Given the description of an element on the screen output the (x, y) to click on. 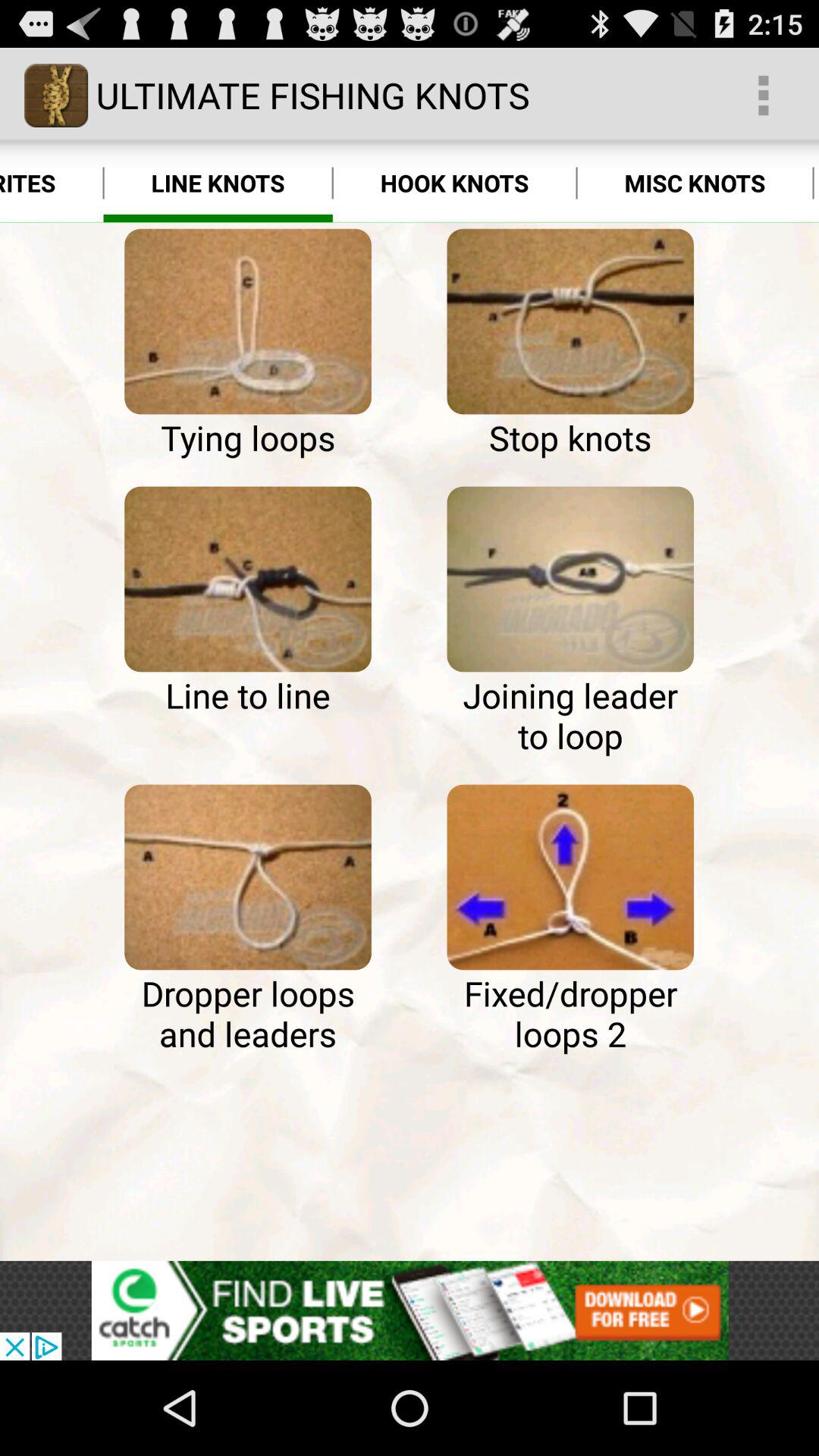
ultimate fishing knots (570, 321)
